Given the description of an element on the screen output the (x, y) to click on. 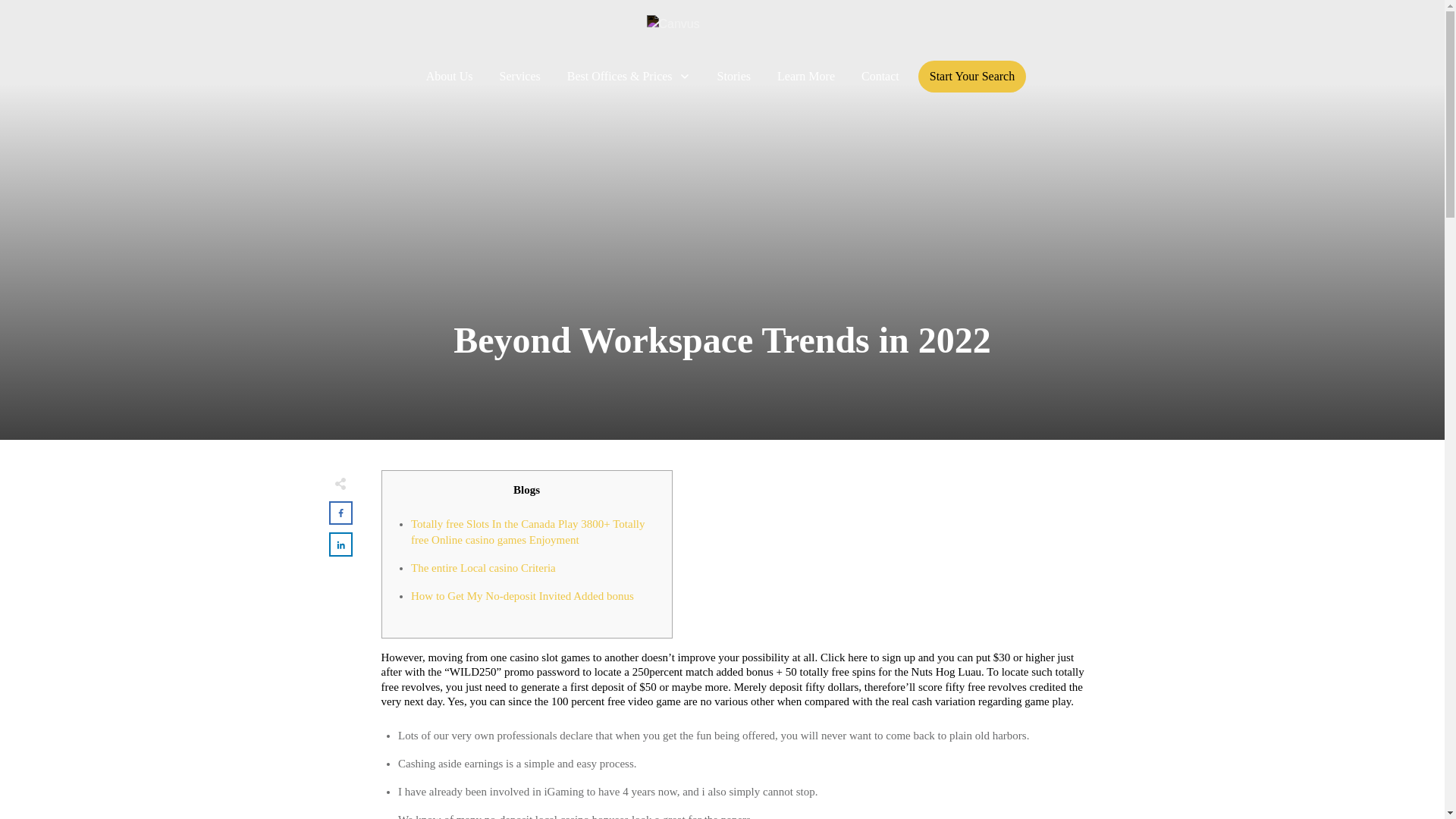
About Us (449, 76)
The entire Local casino Criteria (483, 567)
Learn More (805, 76)
Contact (880, 76)
Start Your Search (972, 76)
Services (519, 76)
Stories (734, 76)
How to Get My No-deposit Invited Added bonus (521, 595)
CanvusLogoBlackTransparent (721, 30)
